Given the description of an element on the screen output the (x, y) to click on. 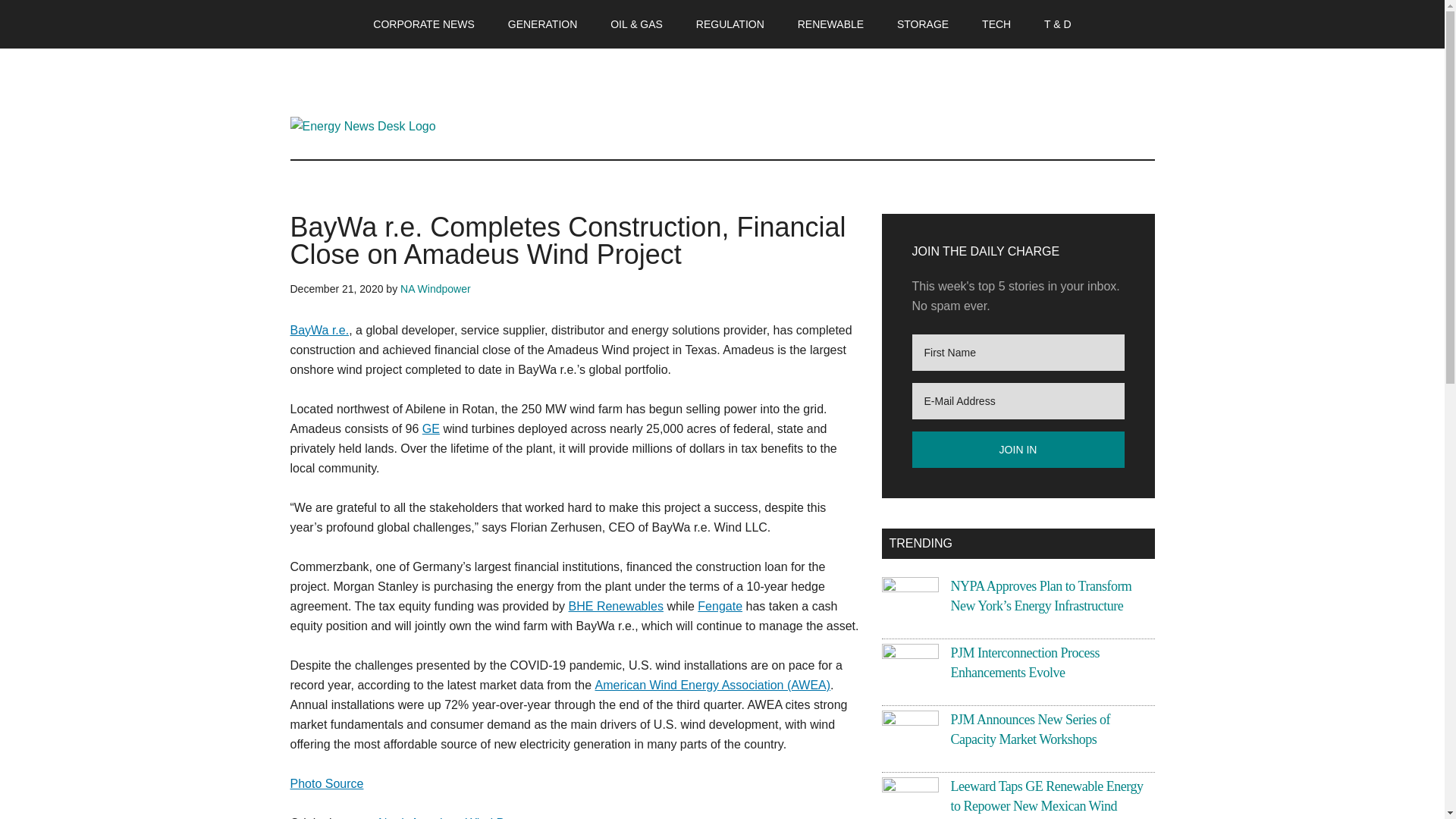
CORPORATE NEWS (423, 24)
GENERATION (542, 24)
BHE Renewables (616, 605)
Join In (1017, 449)
North American Wind Power (454, 817)
TECH (996, 24)
NA Windpower (435, 288)
GE (430, 428)
REGULATION (729, 24)
